Given the description of an element on the screen output the (x, y) to click on. 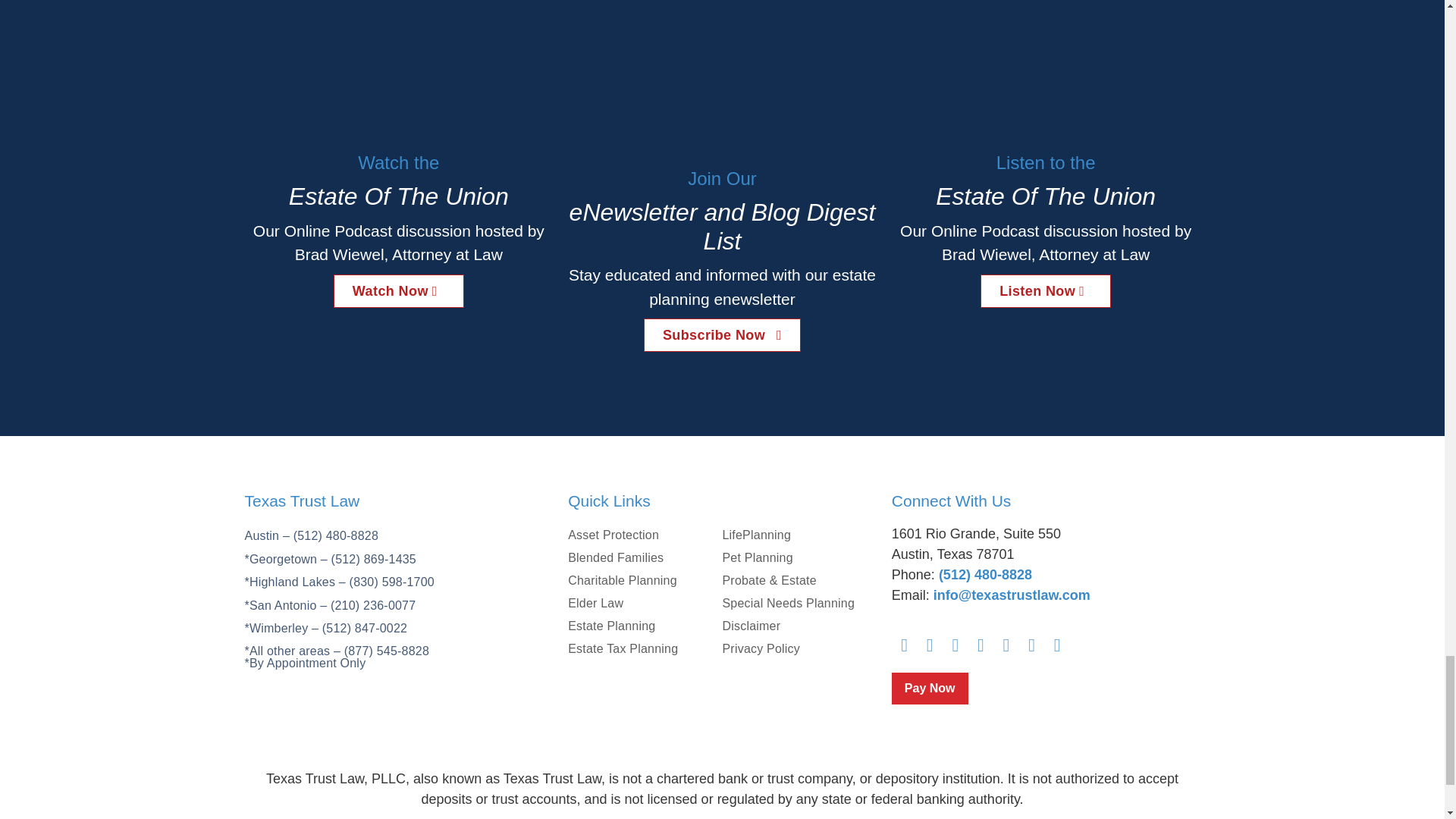
Pay Now (929, 688)
